Given the description of an element on the screen output the (x, y) to click on. 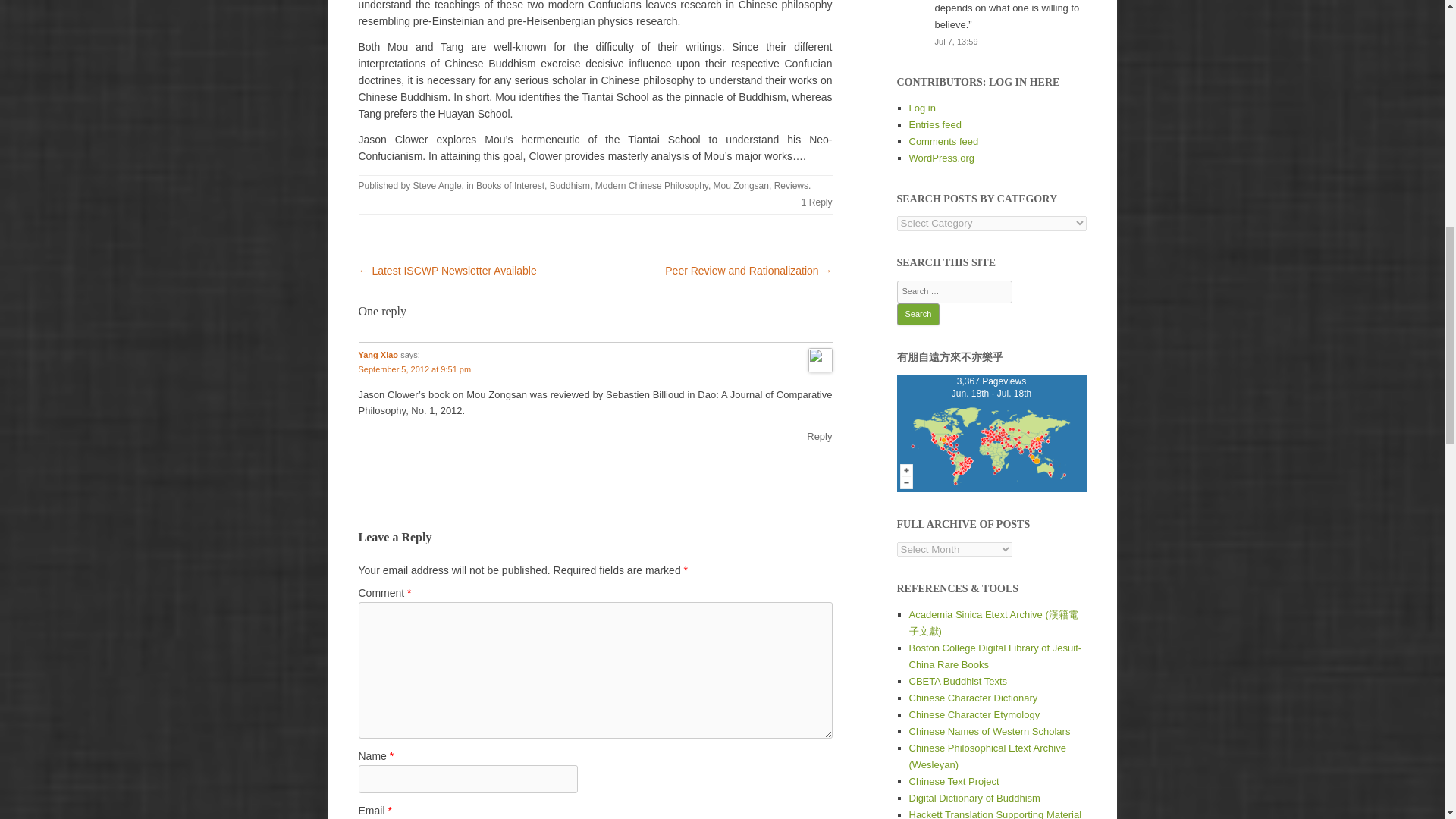
1 Reply (817, 202)
View all posts by Steve Angle (437, 185)
Books of Interest (510, 185)
Yang Xiao (377, 354)
Entries feed (934, 124)
Search (917, 314)
September 5, 2012 at 9:51 pm (414, 368)
Comments feed (943, 141)
Steve Angle (437, 185)
WordPress.org (941, 157)
Search (917, 314)
Reply (818, 436)
Buddhism (569, 185)
Reviews (791, 185)
Modern Chinese Philosophy (651, 185)
